Given the description of an element on the screen output the (x, y) to click on. 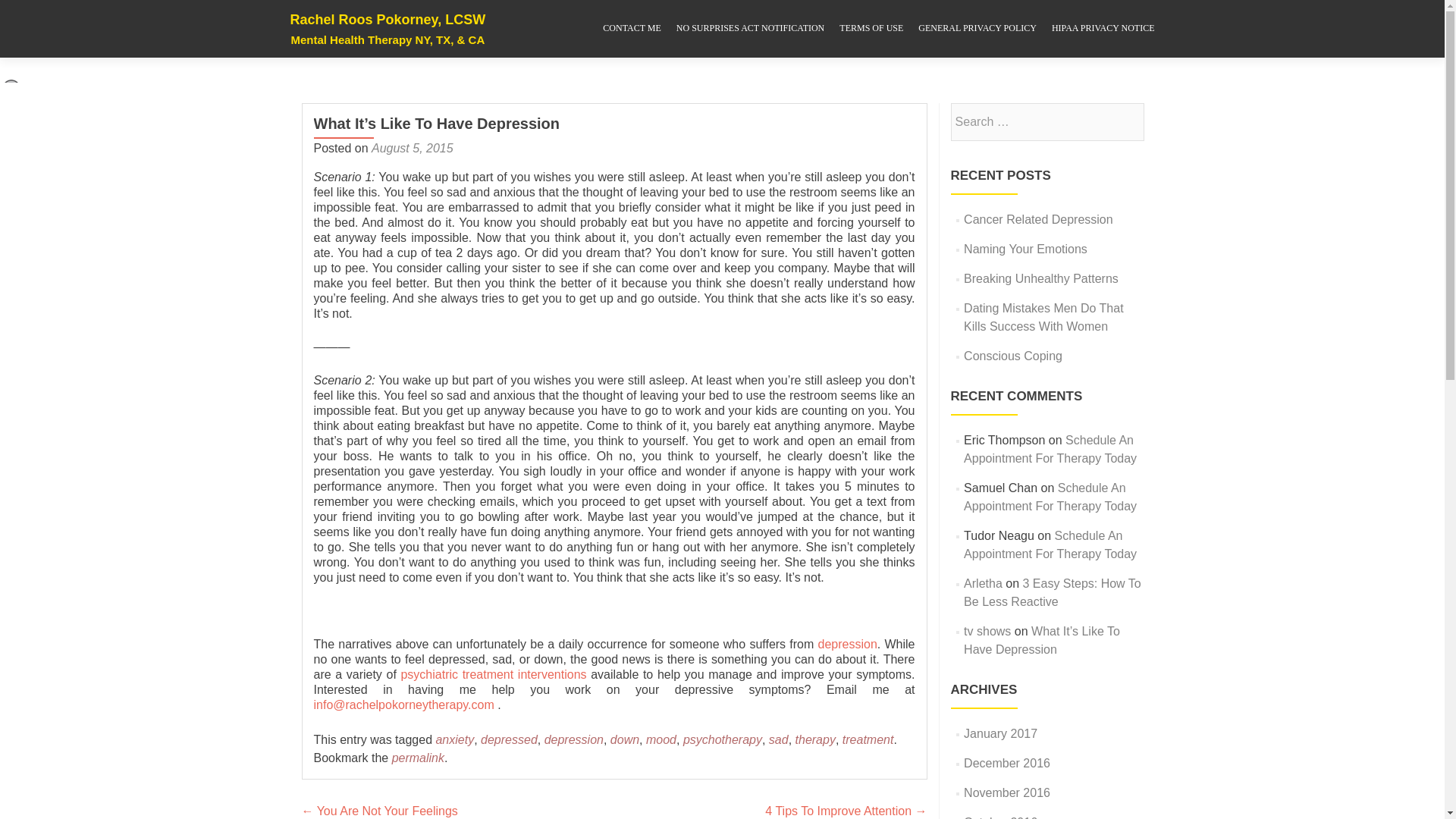
August 5, 2015 (411, 147)
permalink (417, 757)
anxiety (454, 739)
GENERAL PRIVACY POLICY (977, 28)
Breaking Unhealthy Patterns (1040, 278)
Search (1125, 120)
therapy (814, 739)
depression (574, 739)
mood (661, 739)
depression (847, 644)
